Given the description of an element on the screen output the (x, y) to click on. 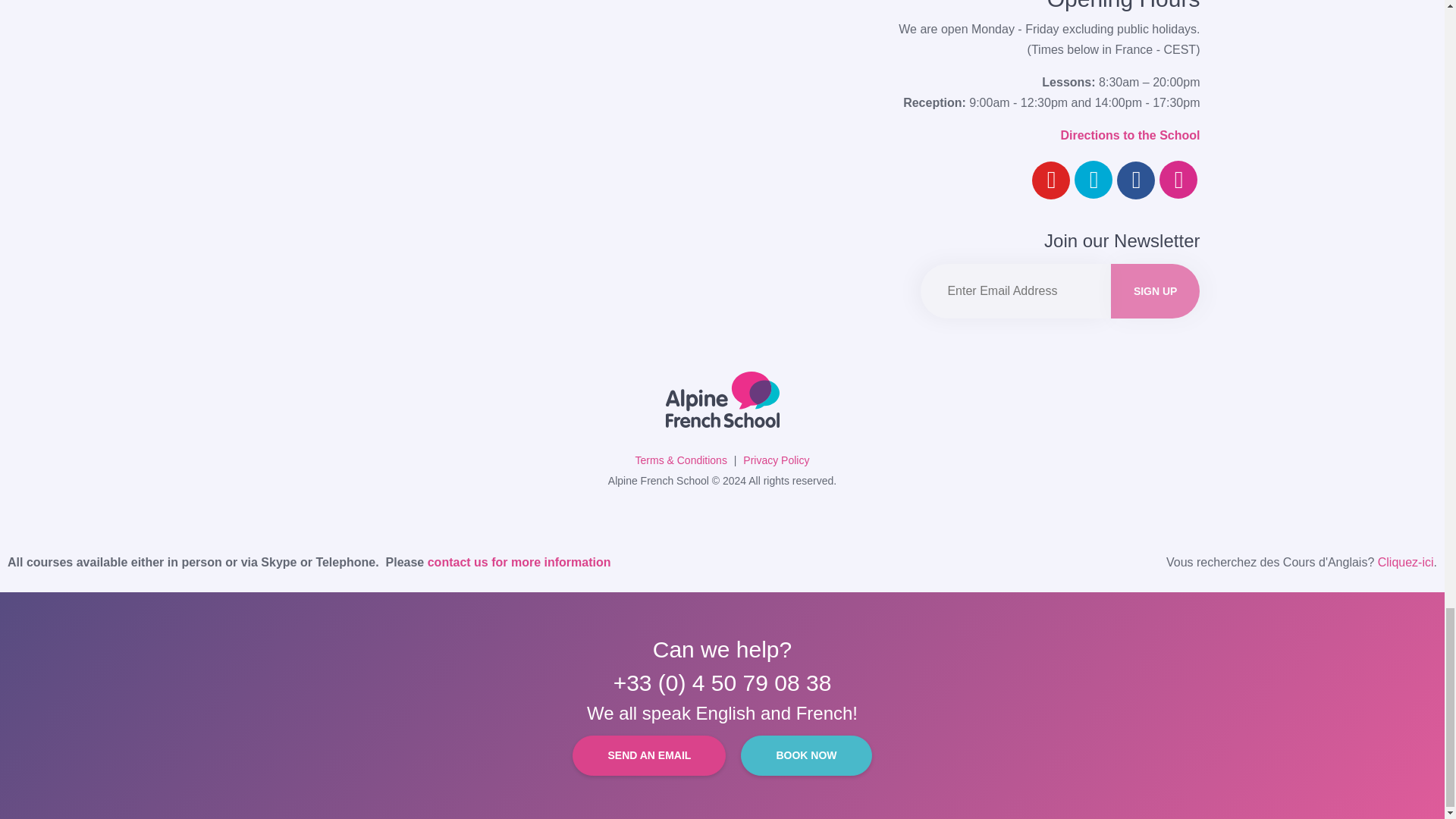
Sign up (1154, 290)
